Given the description of an element on the screen output the (x, y) to click on. 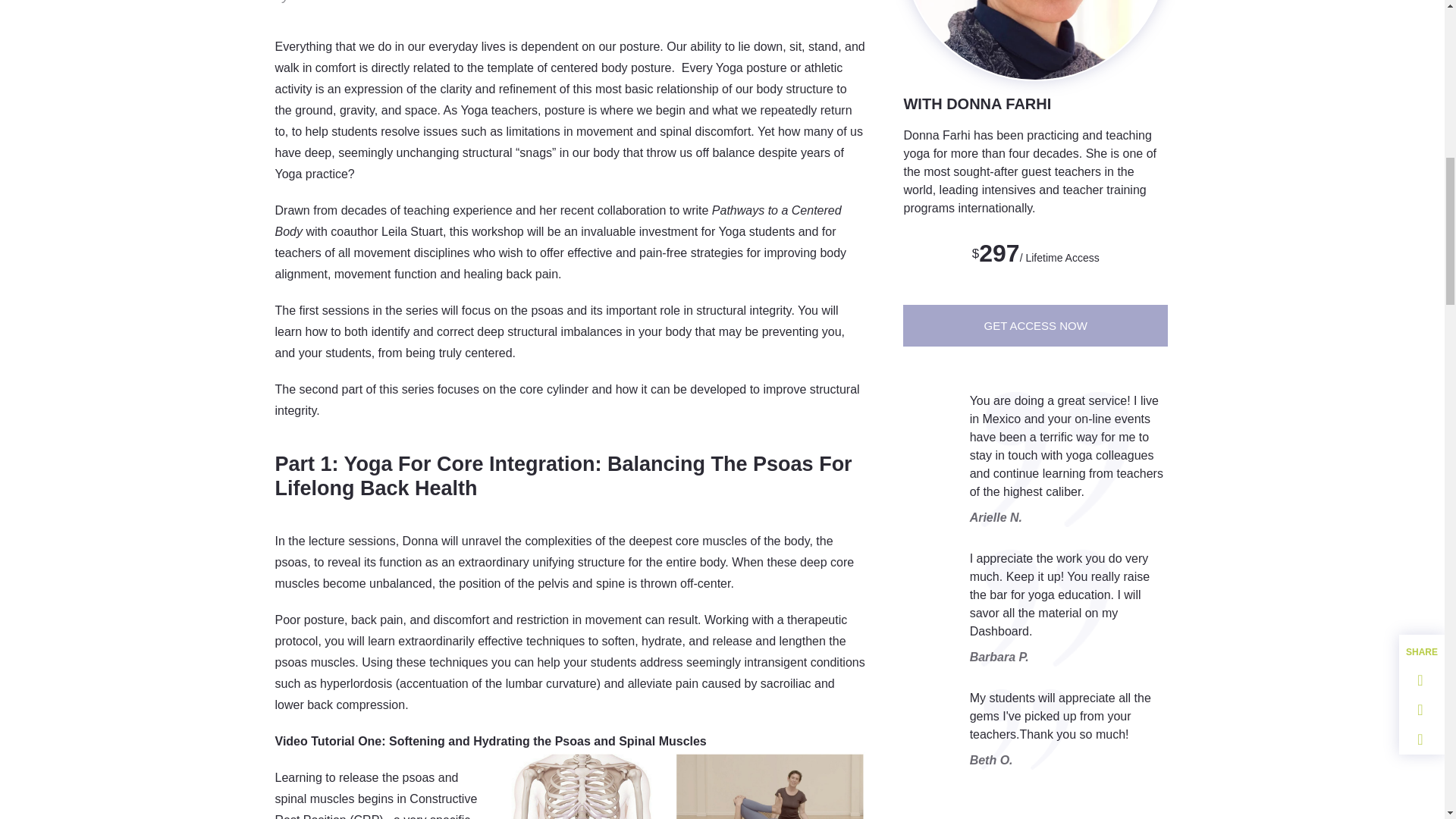
by Donna Farhi (321, 2)
WITH DONNA FARHI (976, 103)
GET ACCESS NOW (1034, 325)
